Given the description of an element on the screen output the (x, y) to click on. 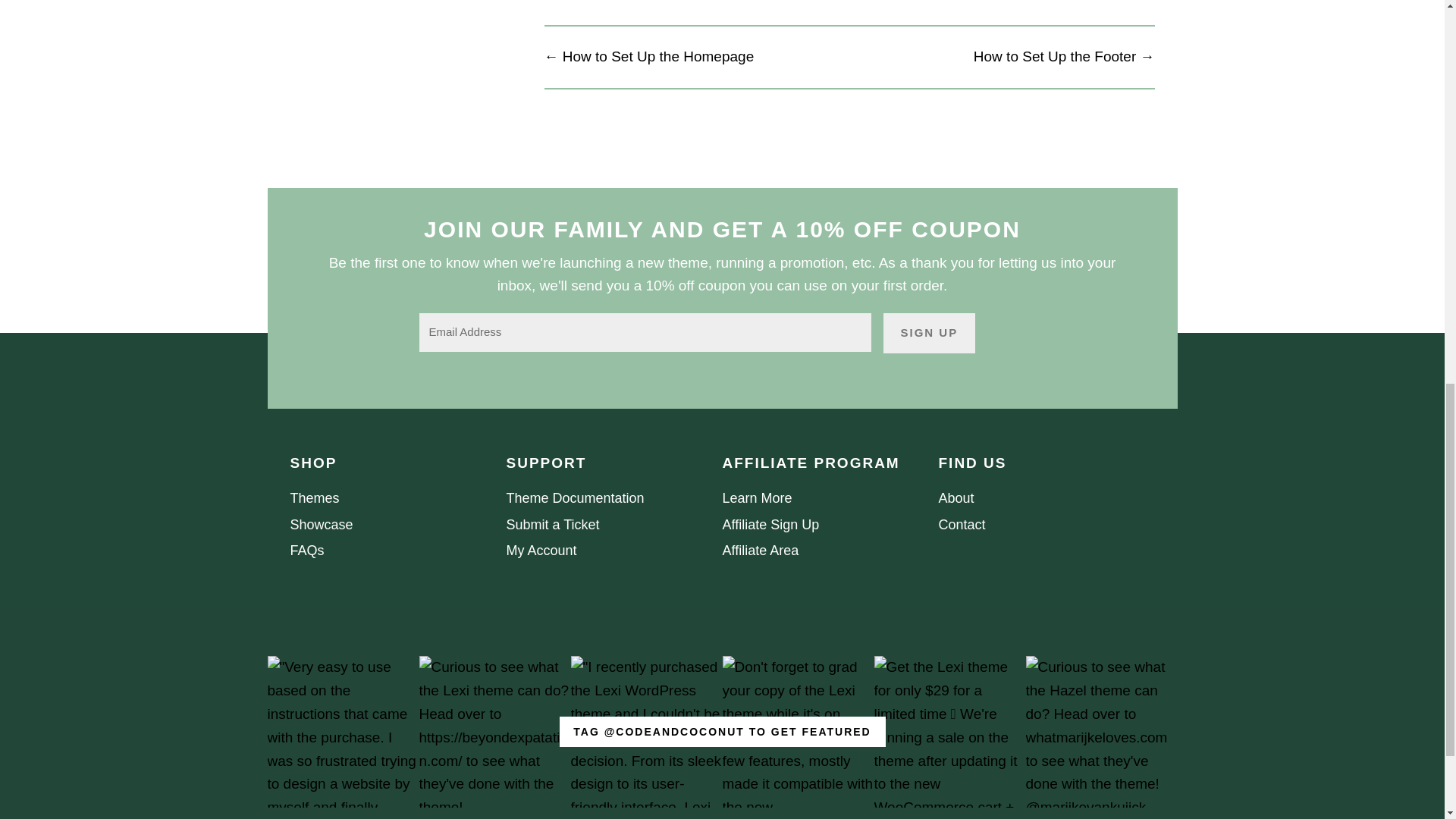
Sign up (928, 332)
FAQs (306, 549)
Sign up (928, 332)
Themes (314, 498)
Showcase (320, 524)
